Given the description of an element on the screen output the (x, y) to click on. 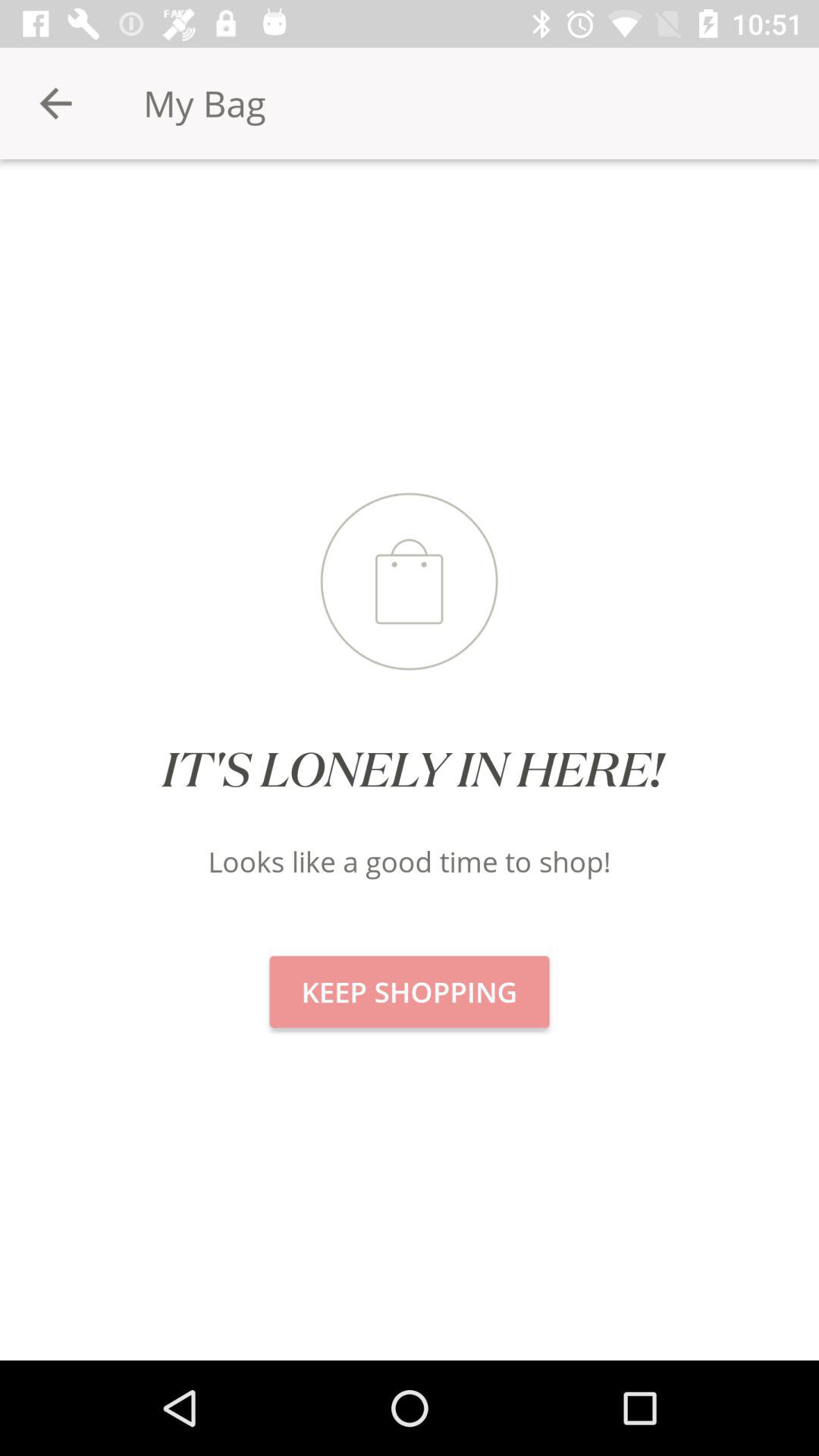
choose icon below the looks like a (409, 991)
